Given the description of an element on the screen output the (x, y) to click on. 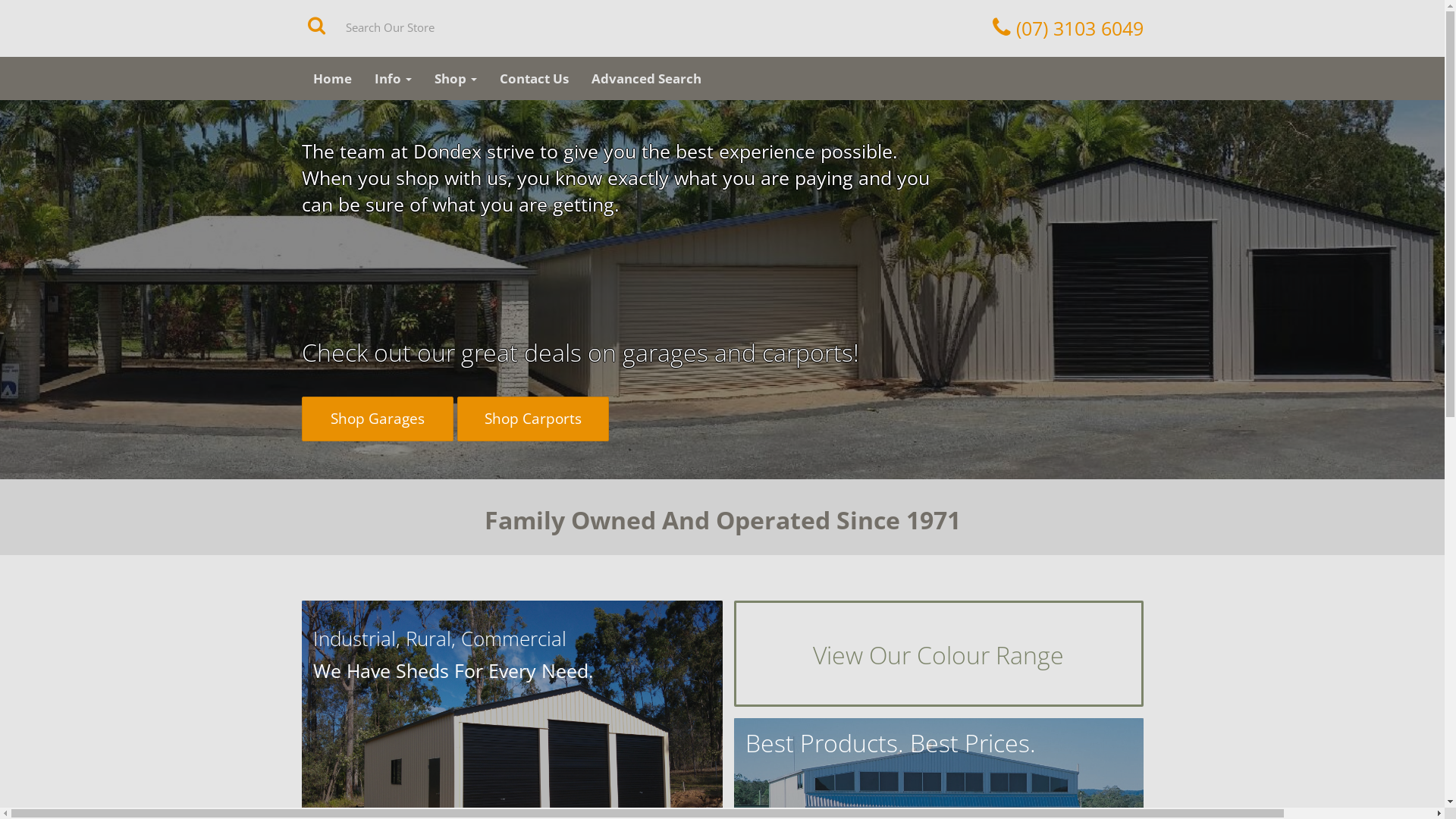
Info Element type: text (392, 78)
Contact Us Element type: text (534, 78)
Shop Carports Element type: text (532, 418)
Shop Garages Element type: text (377, 418)
Home Element type: text (332, 78)
Shop Element type: text (455, 78)
Advanced Search Element type: text (645, 78)
